Given the description of an element on the screen output the (x, y) to click on. 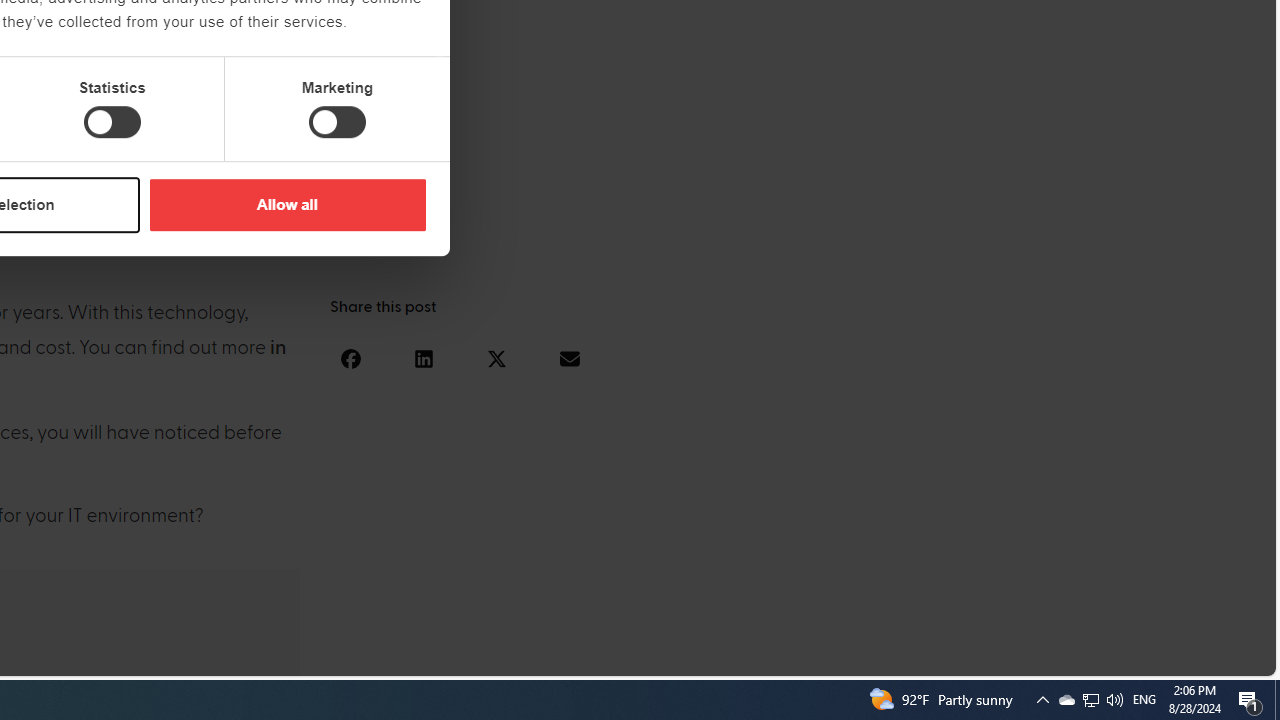
Share on linkedin (423, 358)
Language switcher : Klingon (1226, 657)
Language switcher : Italian (945, 657)
Language switcher : Swedish (1105, 657)
Share on x-twitter (496, 358)
Language switcher : Spanish (925, 657)
Allow all (287, 204)
Language switcher : Danish (1025, 657)
Language switcher : Czech (1205, 657)
Language switcher : Slovenian (1066, 657)
Language switcher : Portuguese (1185, 657)
Language switcher : Norwegian (985, 657)
Language switcher : French (906, 657)
Language switcher : Finnish (1165, 657)
Language switcher : Slovak (1085, 657)
